Given the description of an element on the screen output the (x, y) to click on. 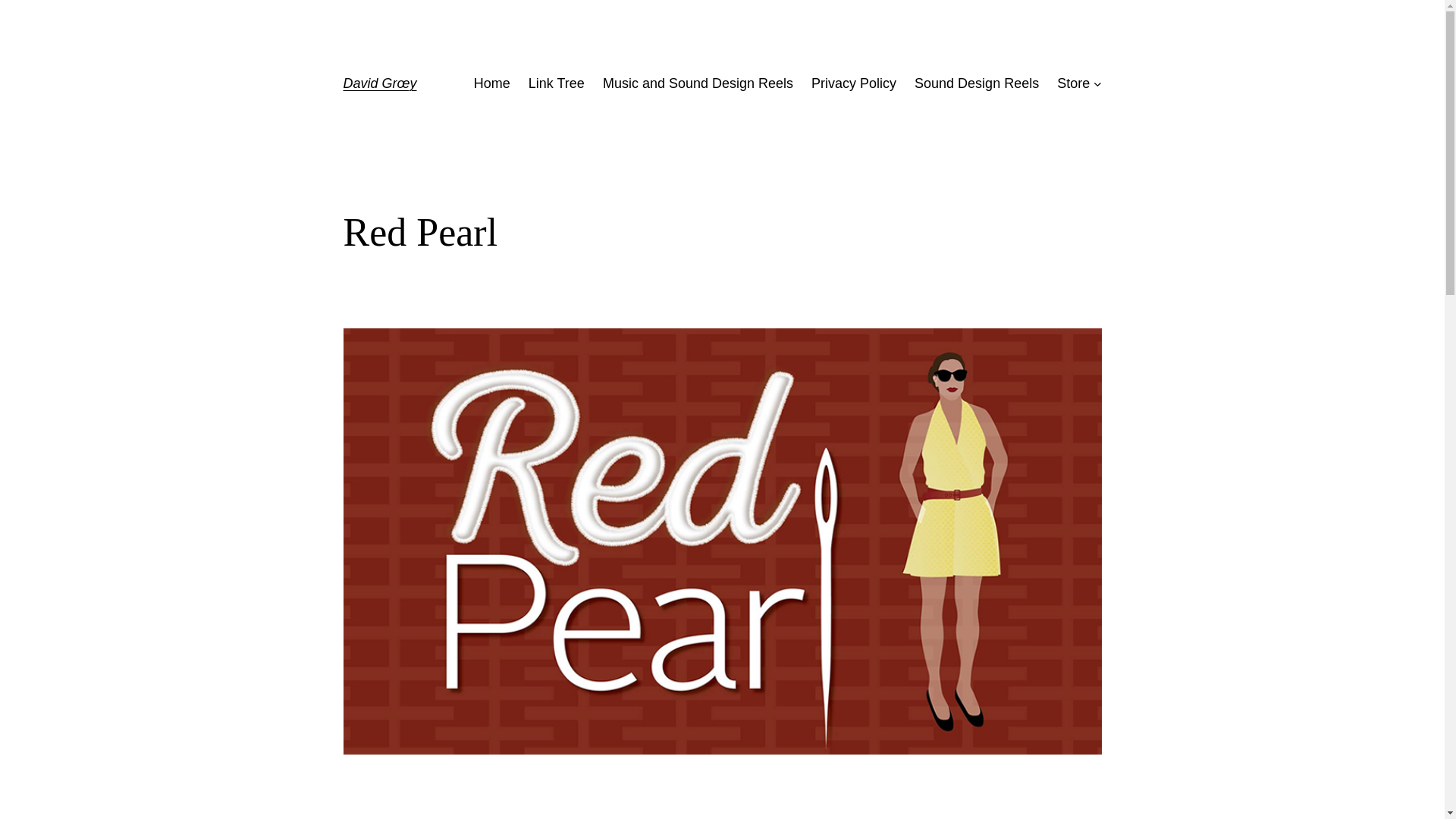
Home (492, 83)
Privacy Policy (853, 83)
Link Tree (556, 83)
Sound Design Reels (976, 83)
Store (1073, 83)
Music and Sound Design Reels (697, 83)
